Given the description of an element on the screen output the (x, y) to click on. 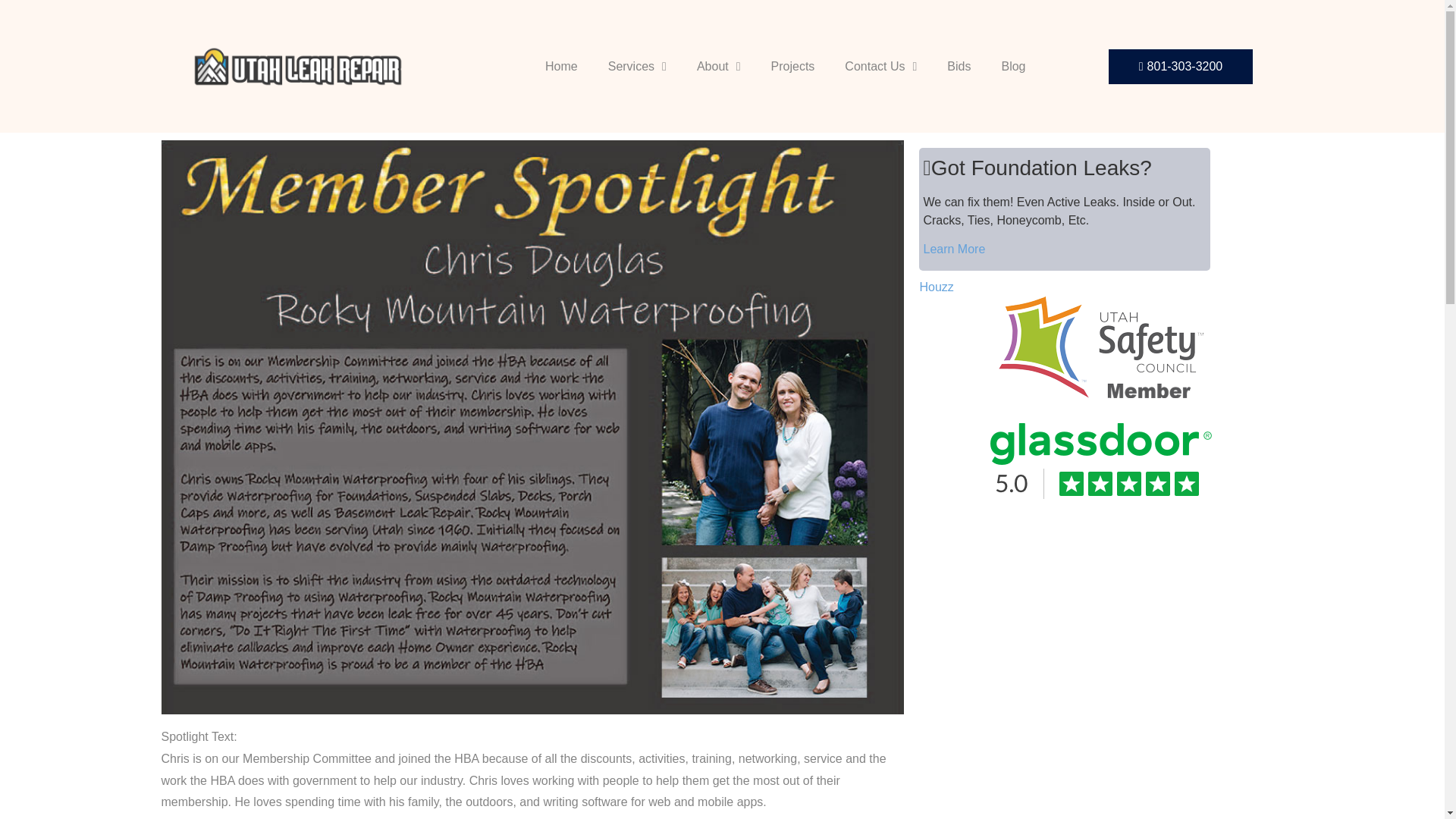
Bids (958, 65)
Services (636, 65)
Home (560, 65)
About (718, 65)
Blog (1013, 65)
Contact Us (880, 65)
Projects (792, 65)
